Given the description of an element on the screen output the (x, y) to click on. 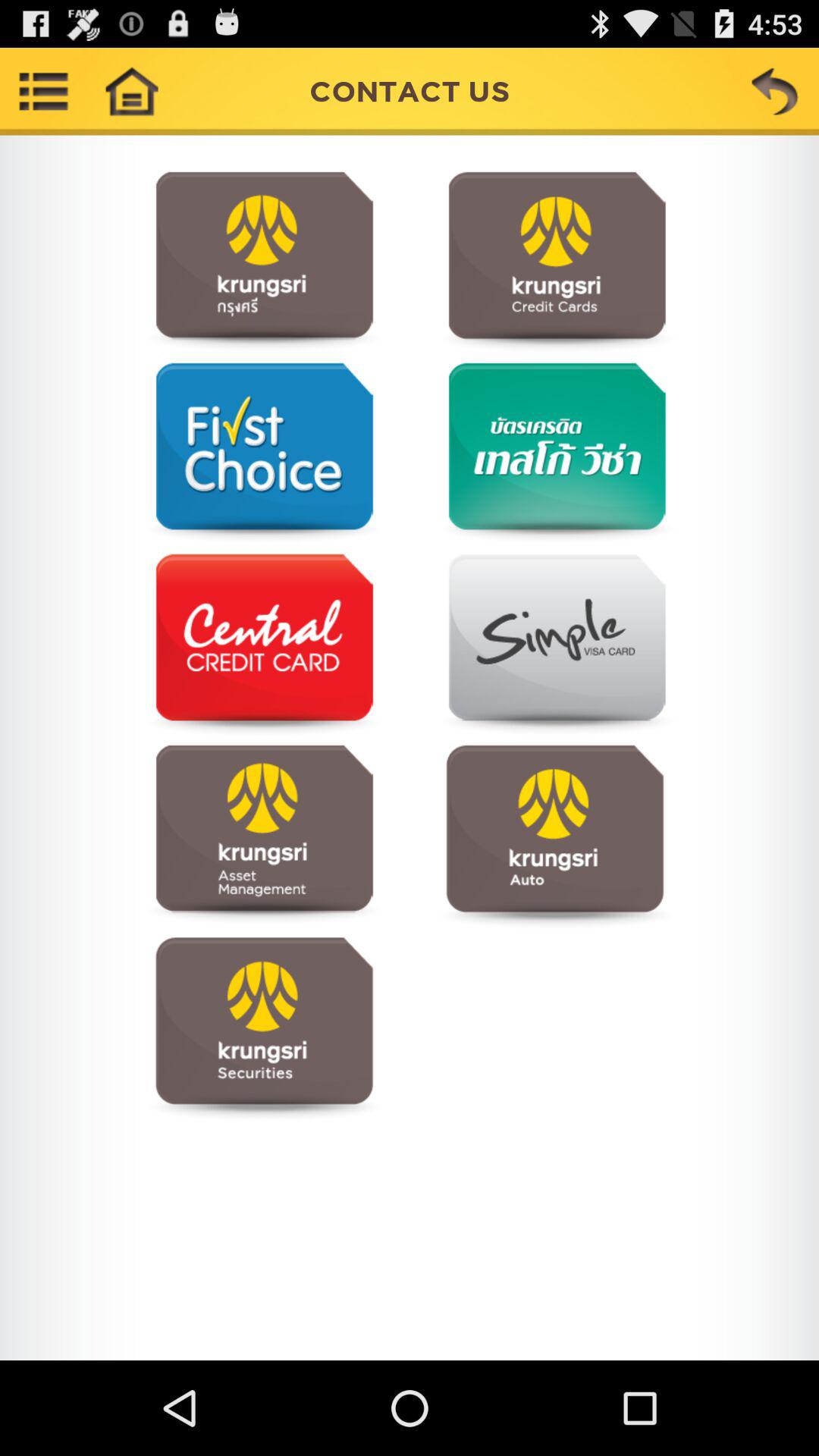
go back menu (775, 91)
